Given the description of an element on the screen output the (x, y) to click on. 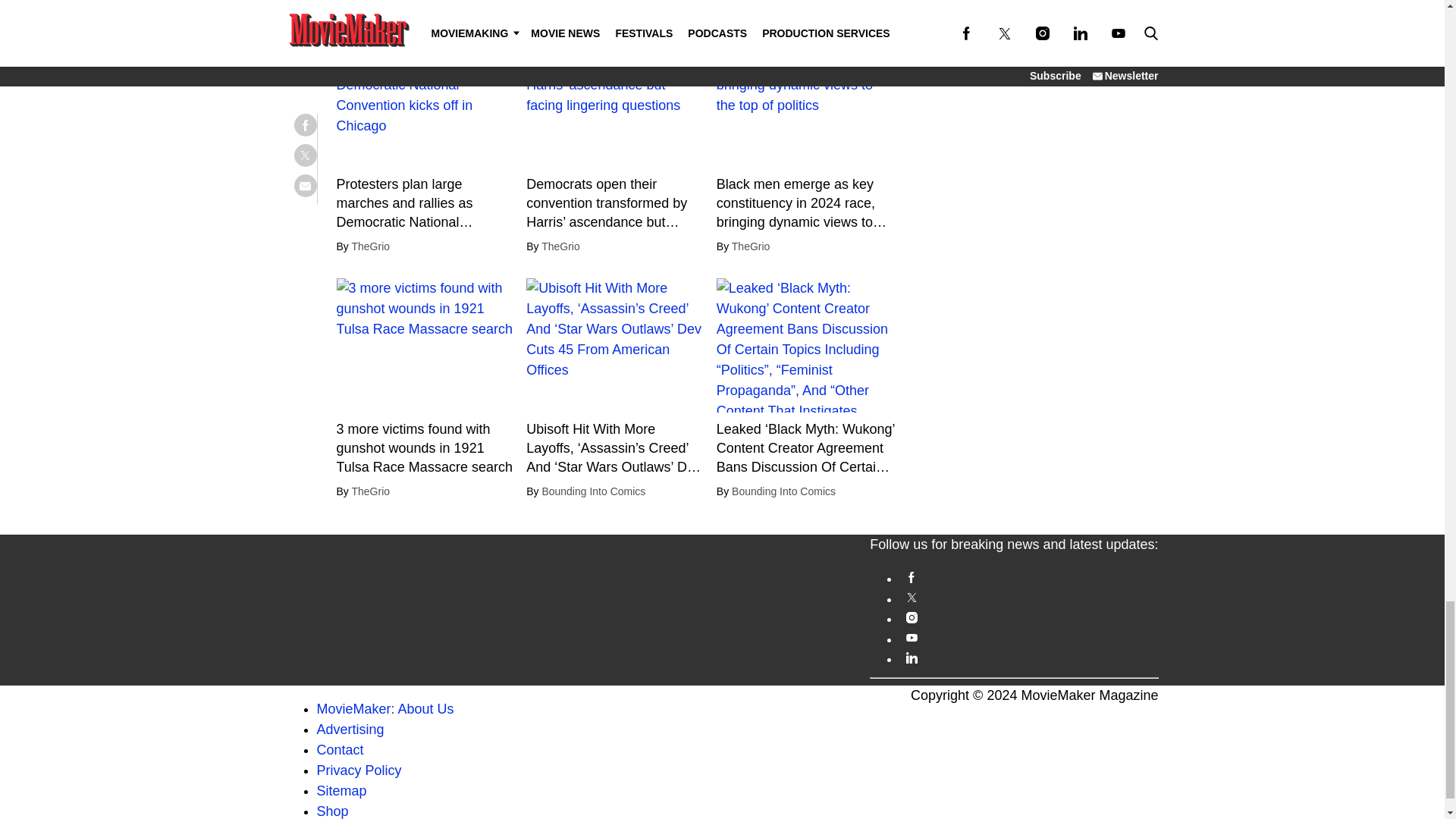
Follow us on Instagram (1028, 617)
Contact MovieMaker Magazine (340, 749)
Subscribe to our YouTube channel (1028, 637)
Advertising (350, 729)
MovieMaker Magazine Shop (333, 811)
Connect with us on LinkedIn (1028, 657)
MovieMaker Magazine Privacy Policy (359, 770)
Follow us on Twitter (1028, 597)
Follow us on Facebook (1028, 577)
MovieMaker: About Us (385, 708)
